Given the description of an element on the screen output the (x, y) to click on. 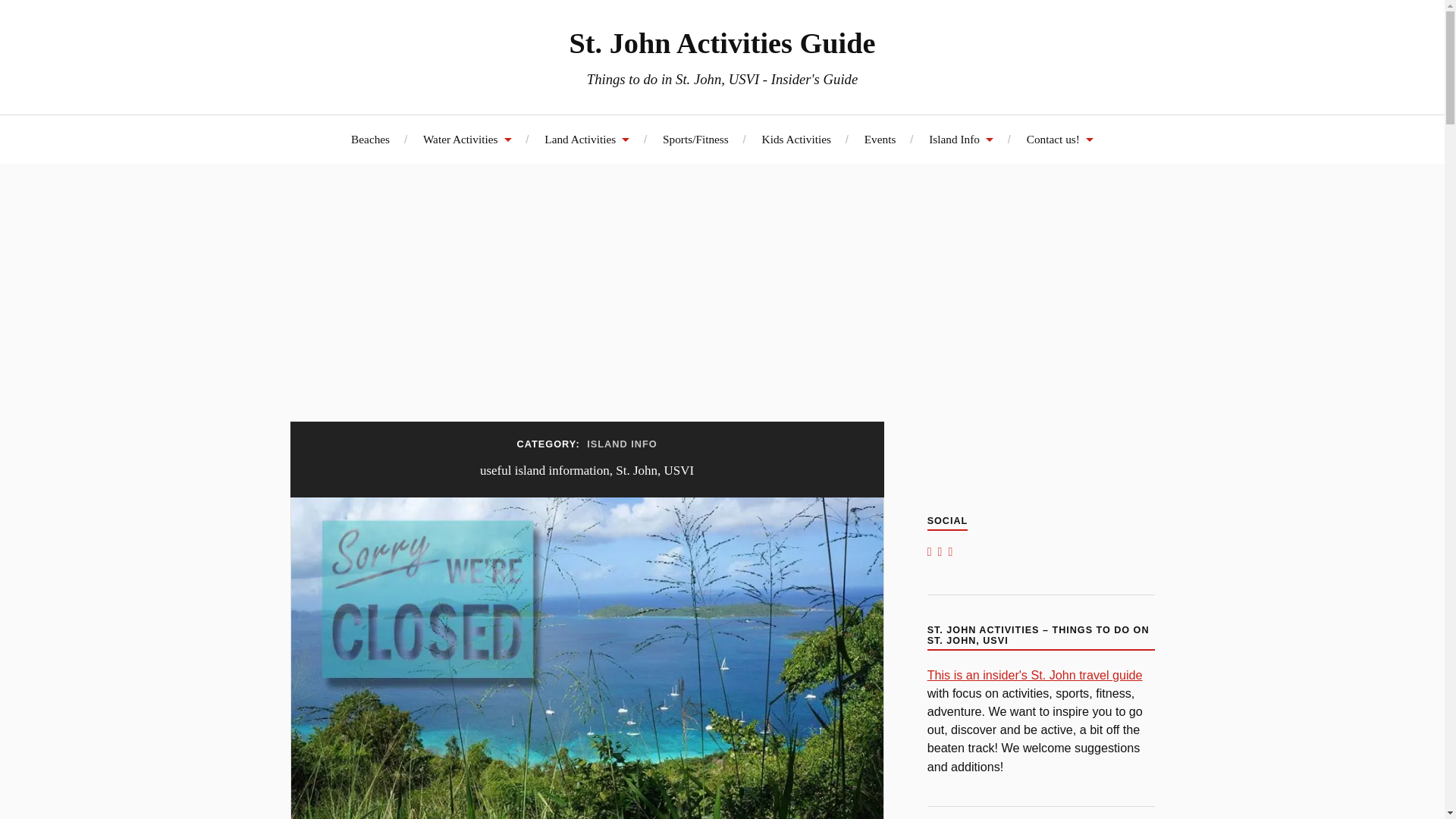
St. John Activities Guide (722, 42)
Water Activities (467, 138)
Kids Activities (796, 138)
Land Activities (586, 138)
Island Info (960, 138)
